Given the description of an element on the screen output the (x, y) to click on. 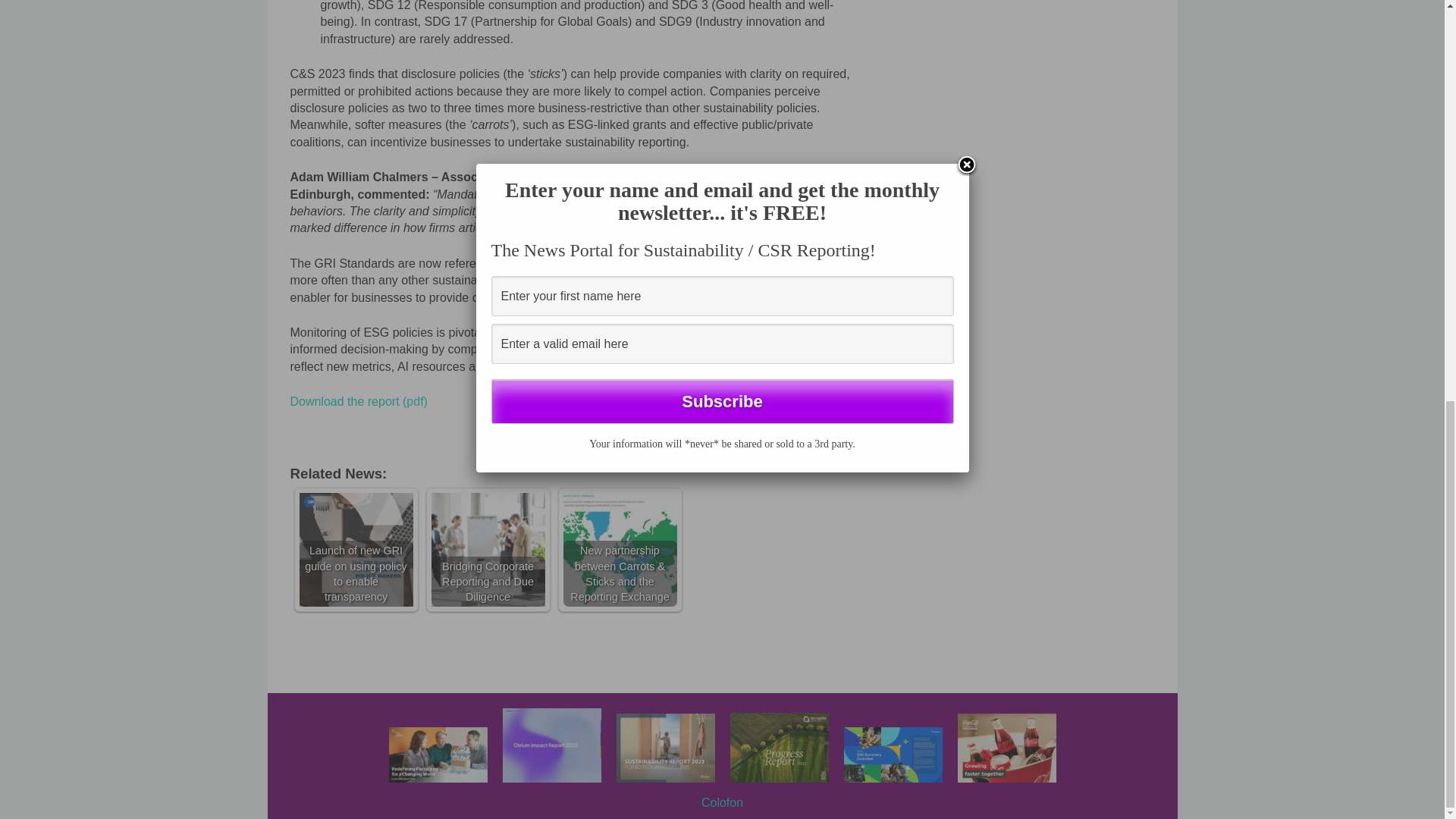
Bridging Corporate Reporting and Due Diligence (487, 549)
Bridging Corporate Reporting and Due Diligence (487, 549)
Colofon (721, 802)
